Given the description of an element on the screen output the (x, y) to click on. 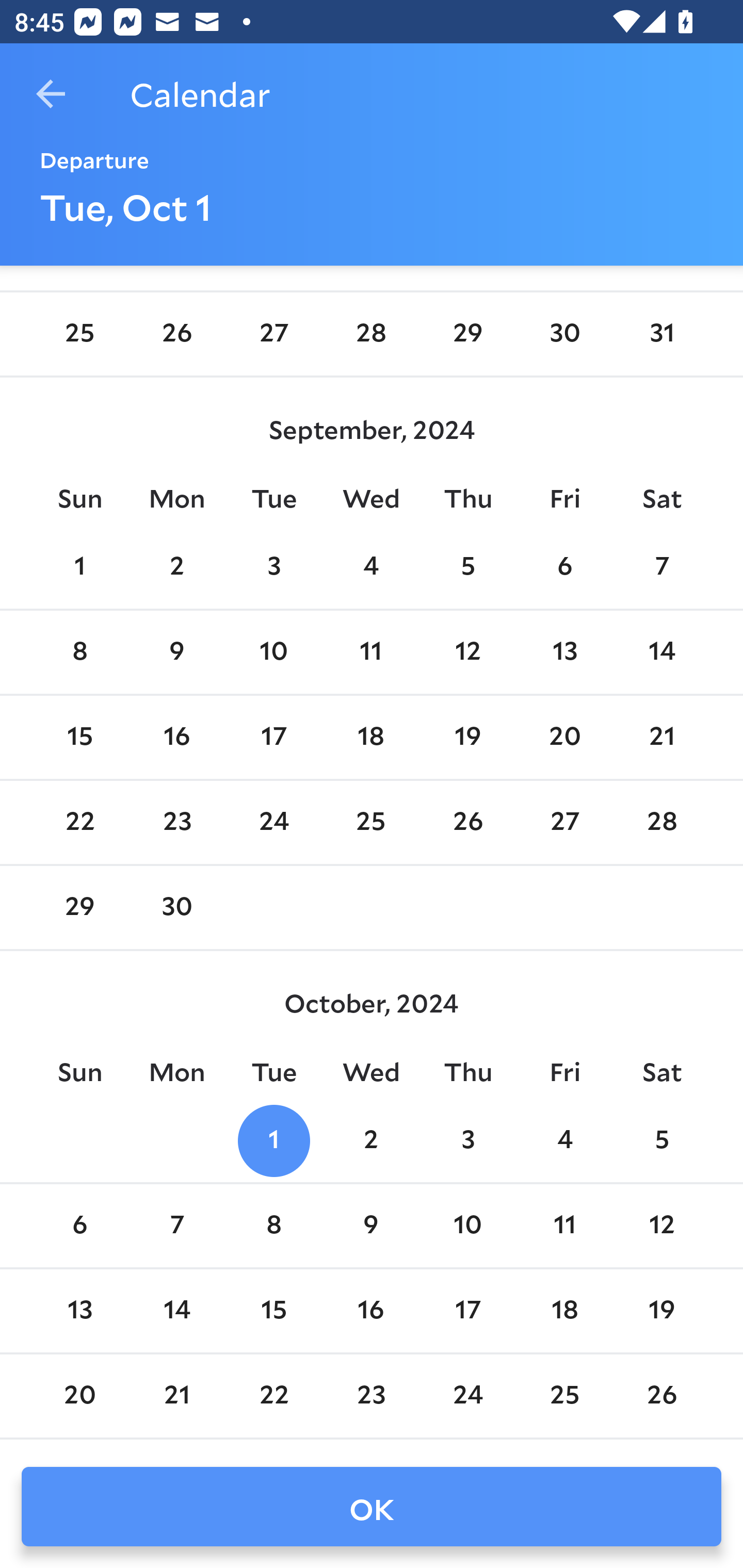
Navigate up (50, 93)
25 (79, 333)
26 (177, 333)
27 (273, 333)
28 (371, 333)
29 (467, 333)
30 (565, 333)
31 (661, 333)
1 (79, 567)
2 (177, 567)
3 (273, 567)
4 (371, 567)
5 (467, 567)
6 (565, 567)
7 (661, 567)
8 (79, 652)
9 (177, 652)
10 (273, 652)
11 (371, 652)
12 (467, 652)
13 (565, 652)
14 (661, 652)
15 (79, 736)
16 (177, 736)
17 (273, 736)
18 (371, 736)
19 (467, 736)
20 (565, 736)
21 (661, 736)
22 (79, 823)
23 (177, 823)
24 (273, 823)
25 (371, 823)
26 (467, 823)
27 (565, 823)
28 (661, 823)
29 (79, 907)
30 (177, 907)
1 (273, 1141)
2 (371, 1141)
3 (467, 1141)
4 (565, 1141)
5 (661, 1141)
6 (79, 1226)
7 (177, 1226)
8 (273, 1226)
9 (371, 1226)
10 (467, 1226)
11 (565, 1226)
12 (661, 1226)
13 (79, 1310)
14 (177, 1310)
15 (273, 1310)
16 (371, 1310)
17 (467, 1310)
18 (565, 1310)
19 (661, 1310)
20 (79, 1395)
21 (177, 1395)
22 (273, 1395)
23 (371, 1395)
24 (467, 1395)
25 (565, 1395)
26 (661, 1395)
OK (371, 1506)
